Given the description of an element on the screen output the (x, y) to click on. 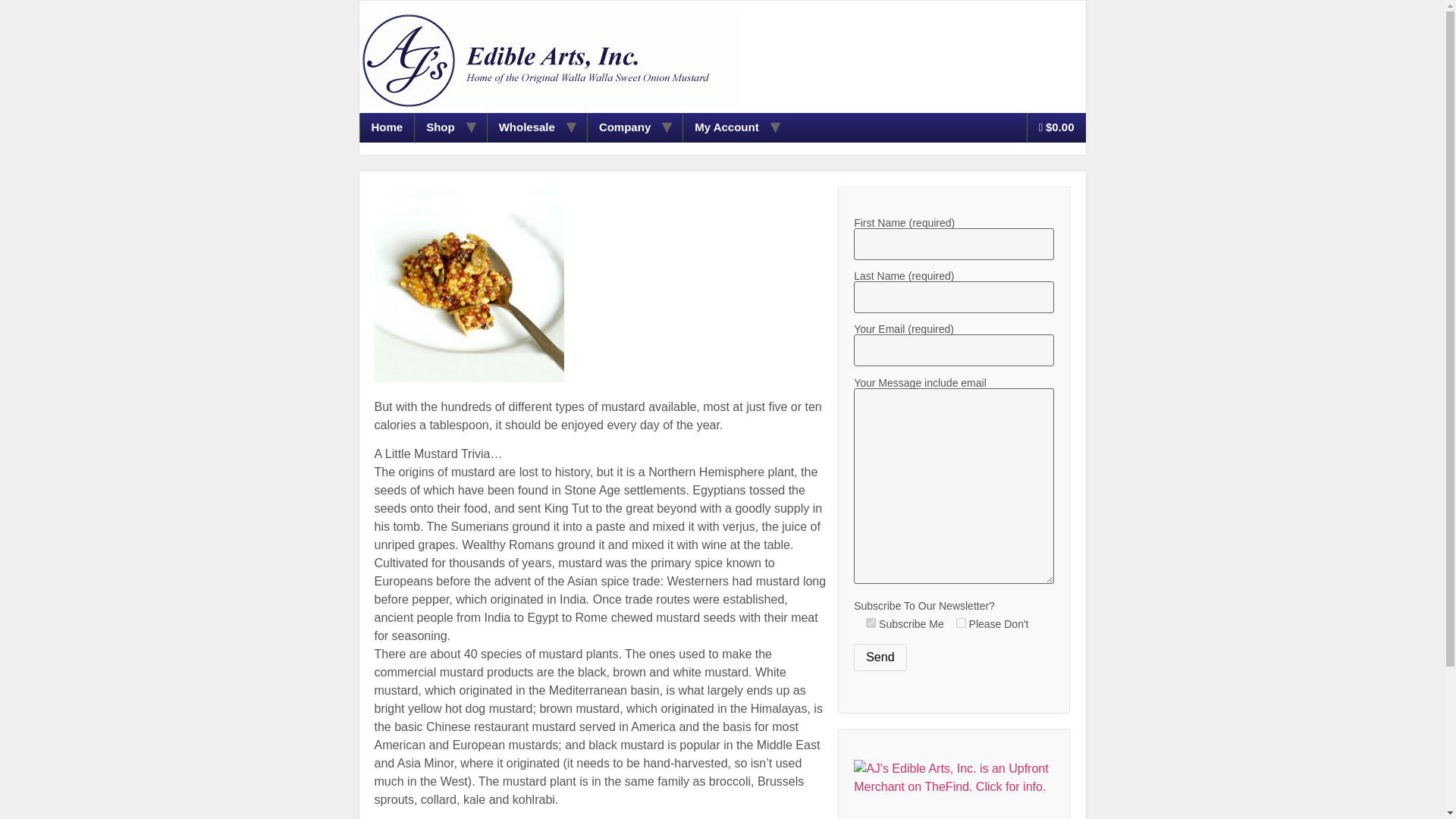
My Account (726, 127)
Subscribe Me (871, 623)
Please Don't (961, 623)
Home (386, 127)
Wholesale (526, 127)
Send (879, 656)
Send (879, 656)
Shop (439, 127)
Start shopping (1056, 127)
Company (624, 127)
TheFind Upfront (953, 786)
